Given the description of an element on the screen output the (x, y) to click on. 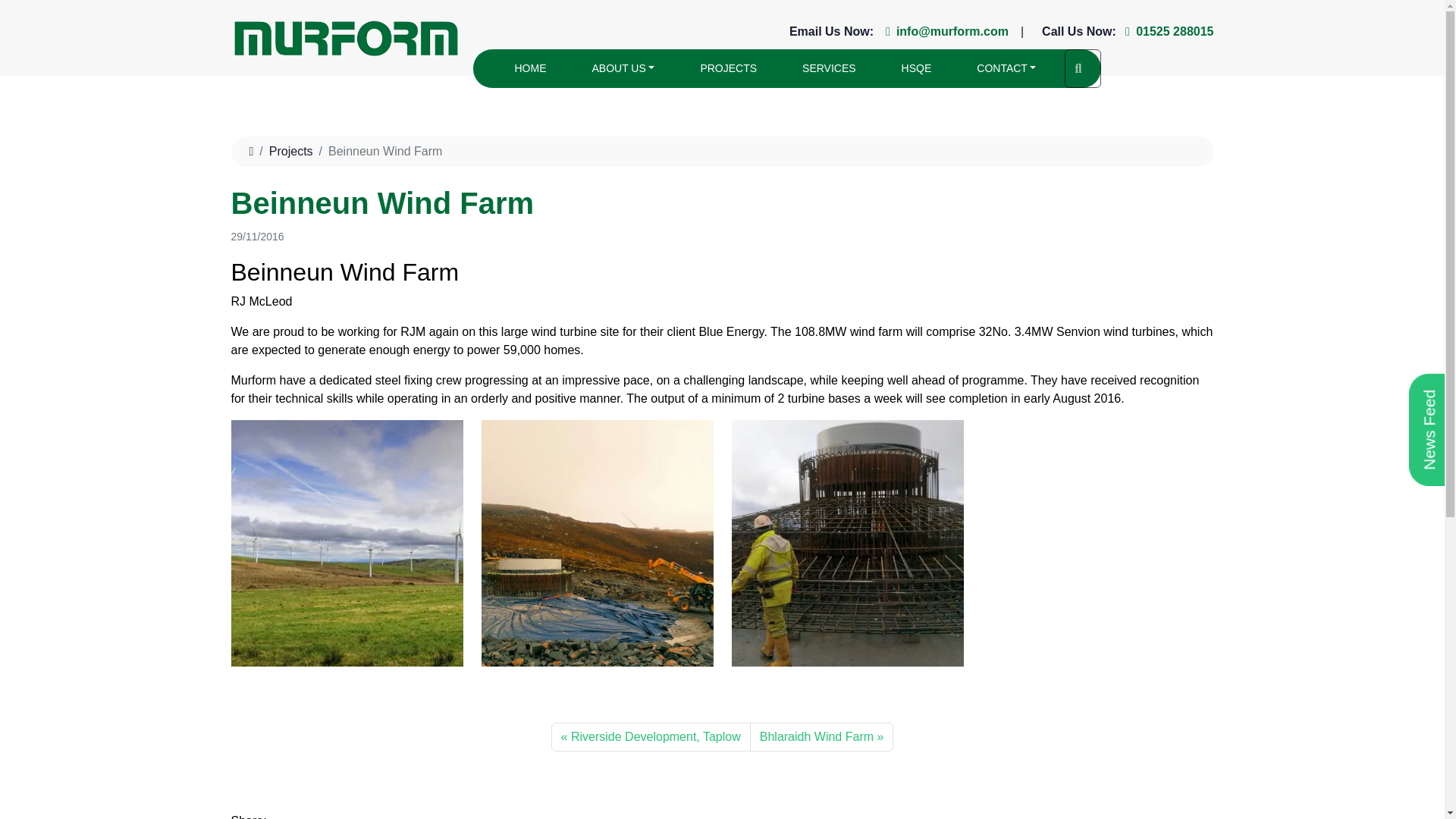
ABOUT US (623, 68)
Bhlaraidh Wind Farm (821, 736)
PROJECTS (727, 68)
SERVICES (828, 68)
Riverside Development, Taplow (651, 736)
HOME (530, 68)
HSQE (917, 68)
Search (721, 151)
CONTACT (1082, 68)
